Given the description of an element on the screen output the (x, y) to click on. 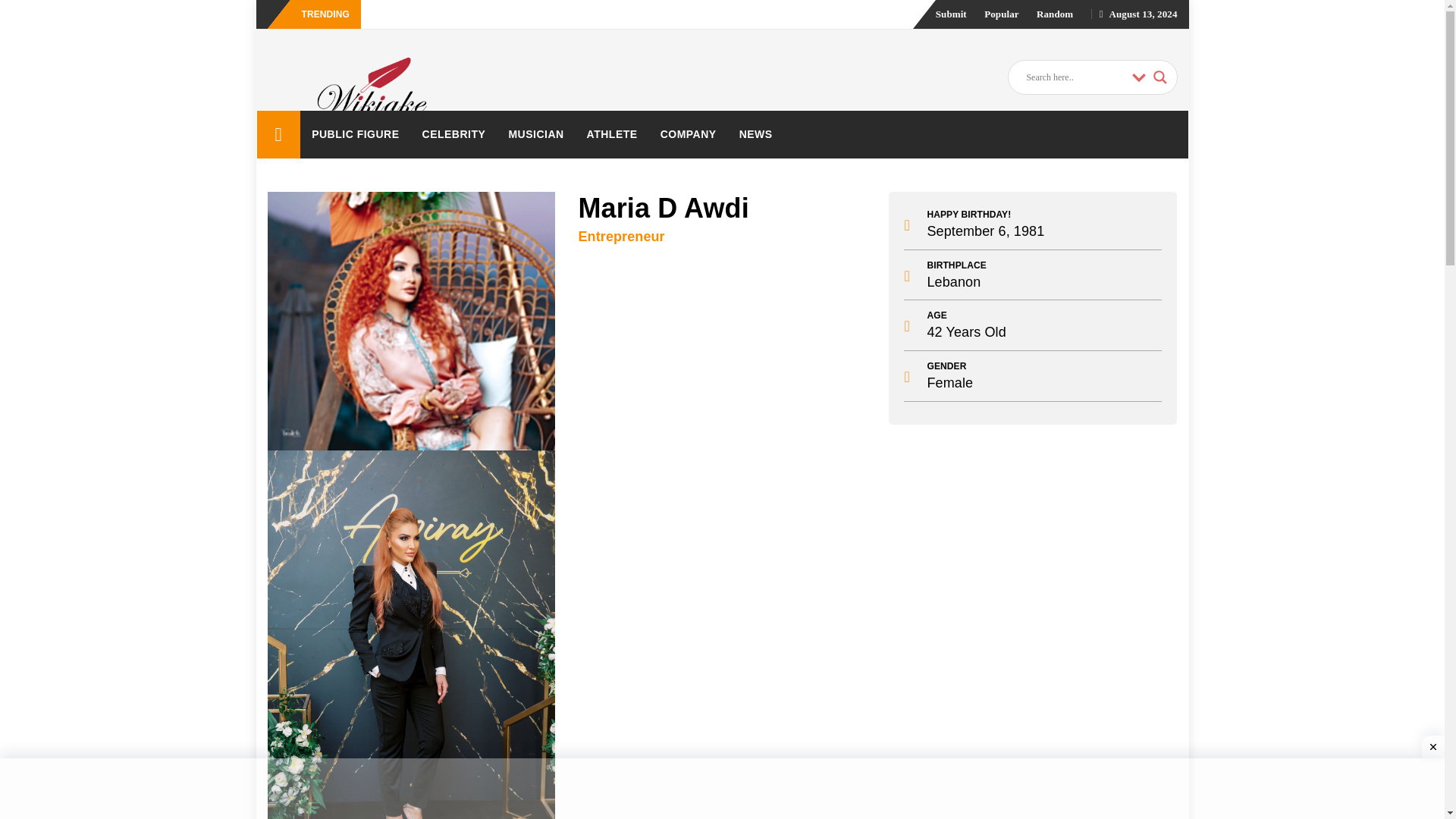
Submit (951, 13)
MUSICIAN (535, 134)
Popular (1000, 13)
NEWS (756, 134)
COMPANY (688, 134)
Wikiake (277, 134)
ATHLETE (612, 134)
CELEBRITY (453, 134)
Random (1054, 13)
PUBLIC FIGURE (354, 134)
